Given the description of an element on the screen output the (x, y) to click on. 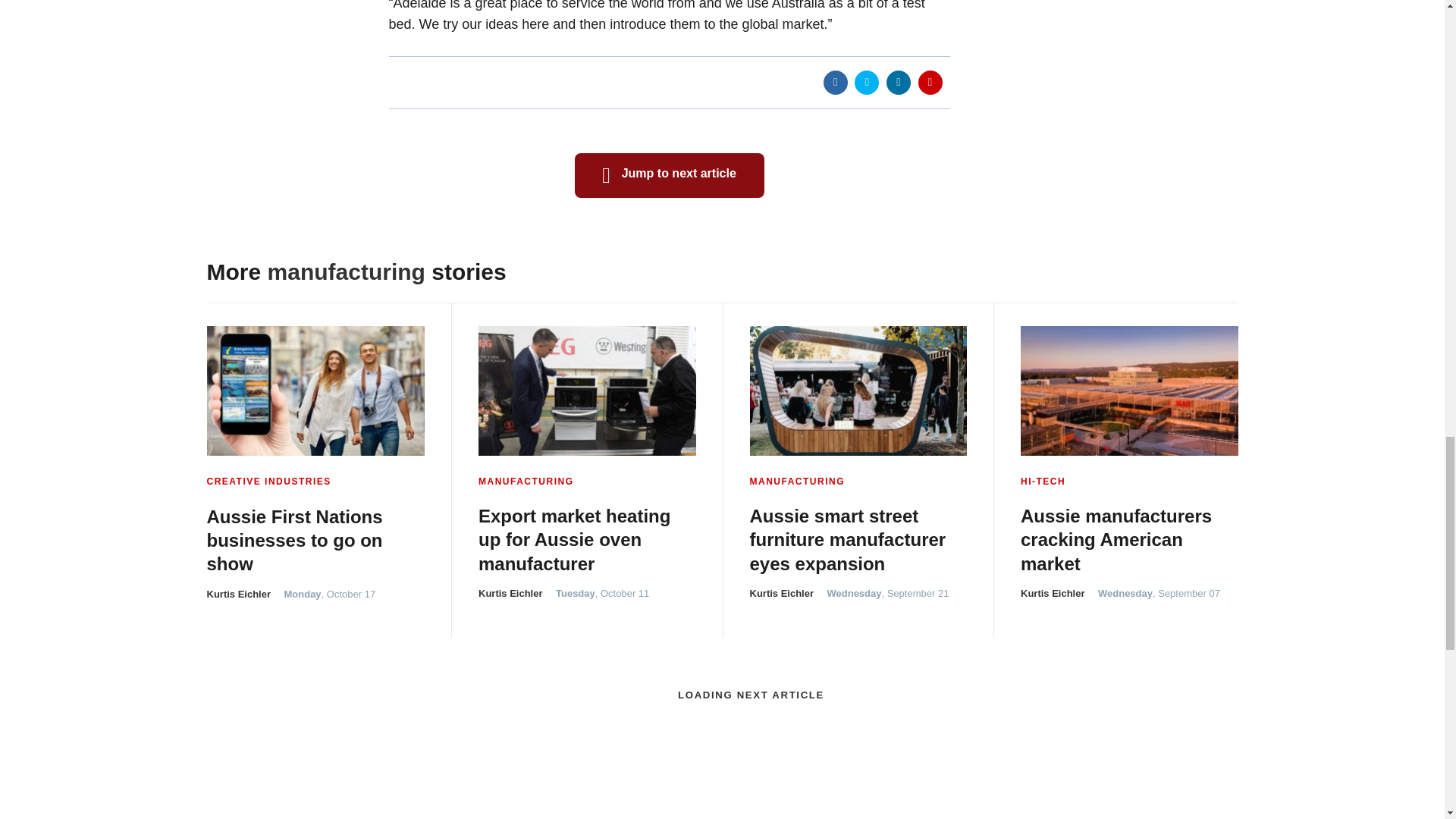
Jump to next article (669, 175)
